Given the description of an element on the screen output the (x, y) to click on. 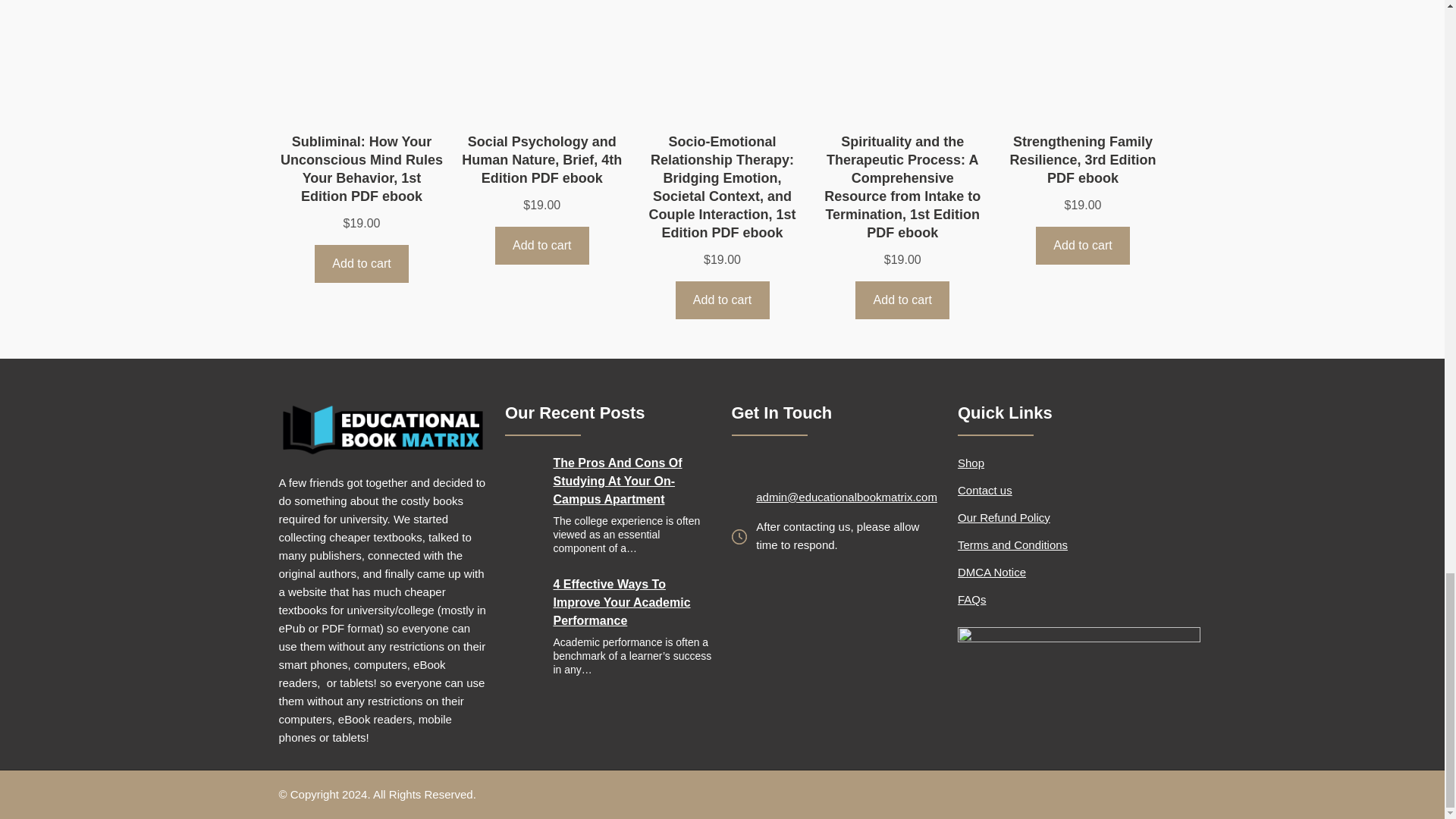
Contact us (984, 490)
Add to cart (902, 299)
Add to cart (1082, 244)
Our Refund Policy (1003, 517)
4 Effective Ways To Improve Your Academic Performance (633, 602)
DMCA Notice (992, 571)
Add to cart (542, 244)
Add to cart (361, 262)
Shop (971, 462)
Terms and Conditions (1012, 544)
The Pros And Cons Of Studying At Your On-Campus Apartment (633, 481)
Add to cart (721, 299)
